Given the description of an element on the screen output the (x, y) to click on. 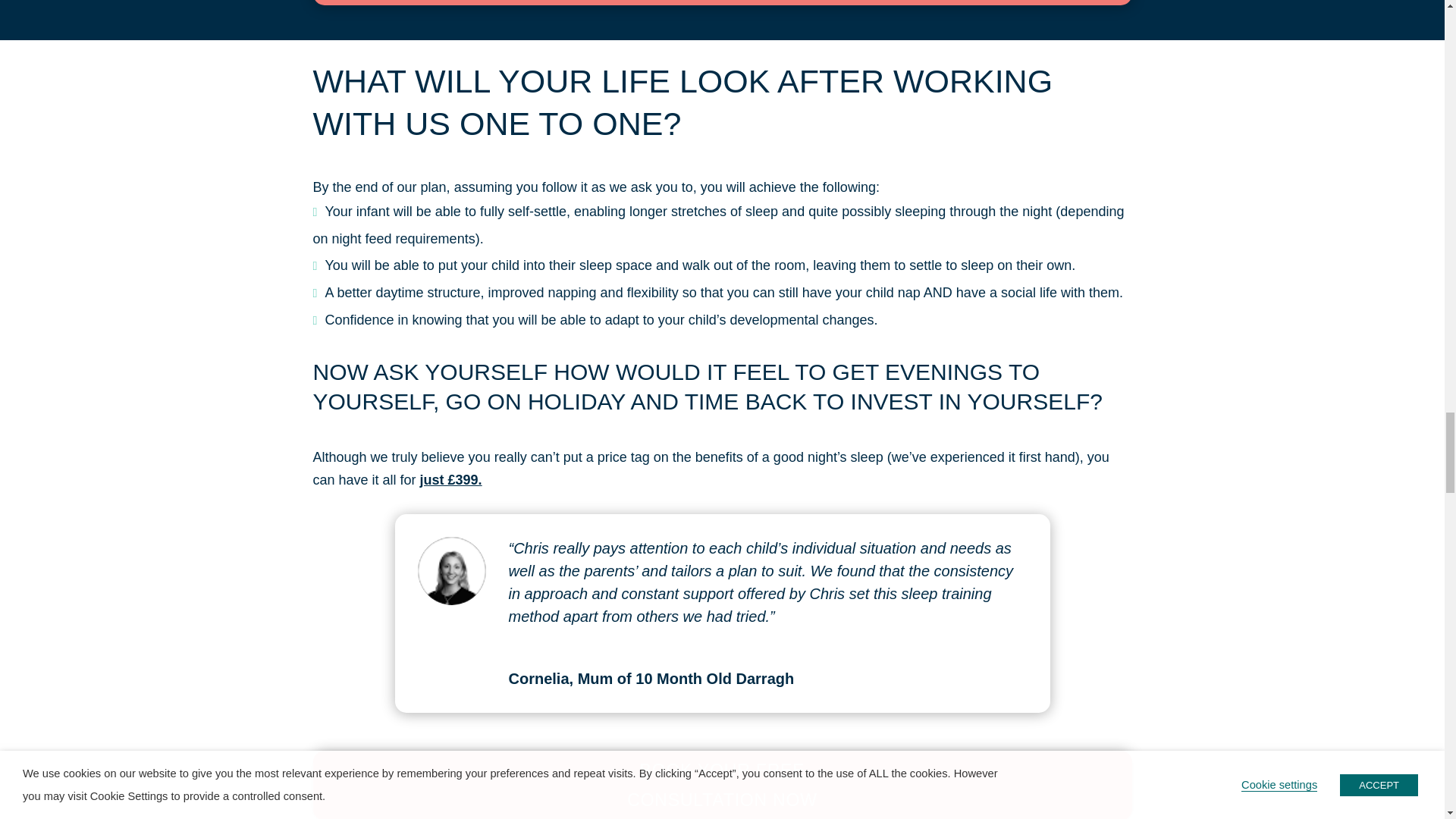
BOOK YOUR FREE CONSULTATION NOW (722, 785)
